Given the description of an element on the screen output the (x, y) to click on. 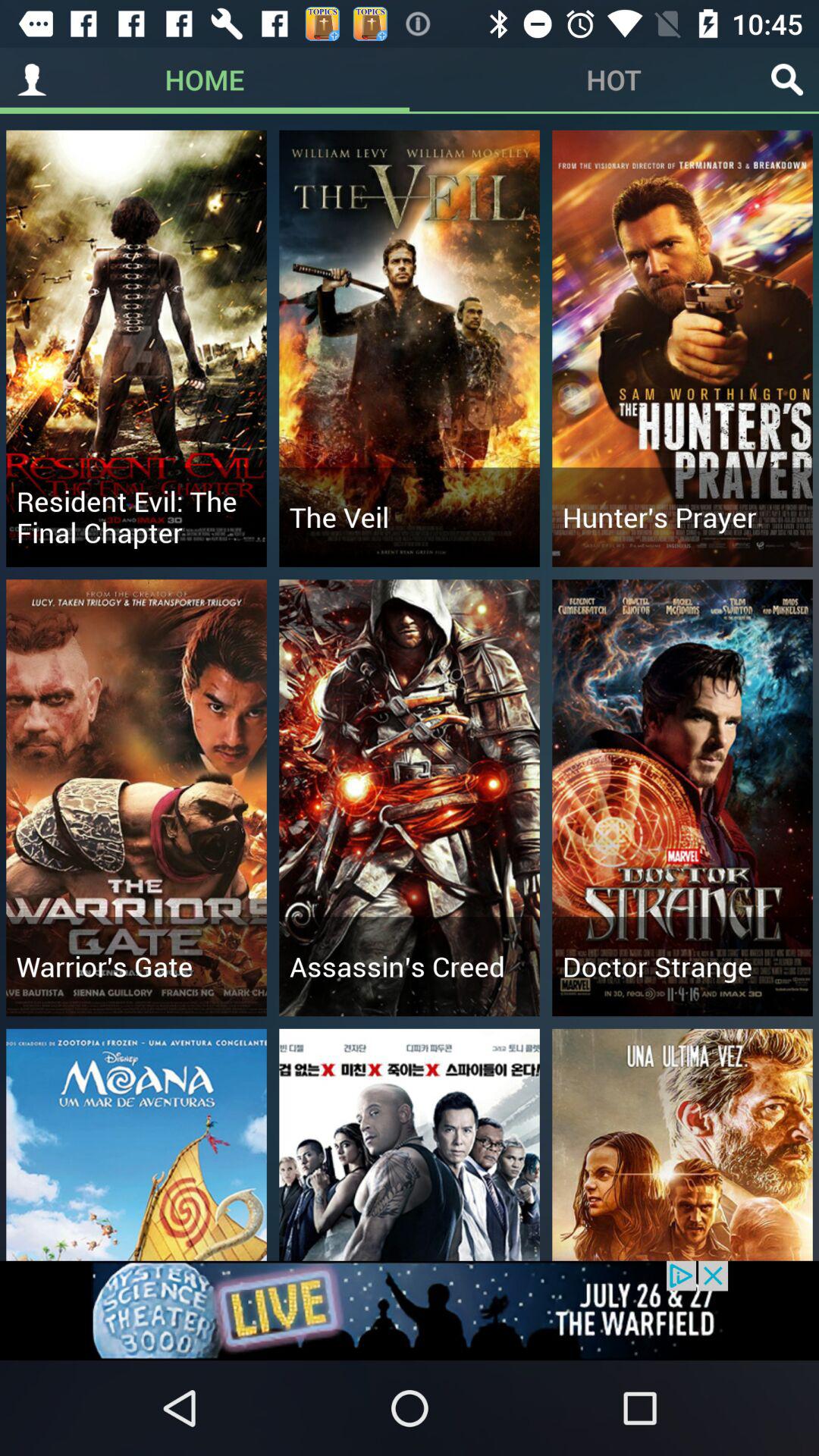
go to homepage (31, 79)
